Given the description of an element on the screen output the (x, y) to click on. 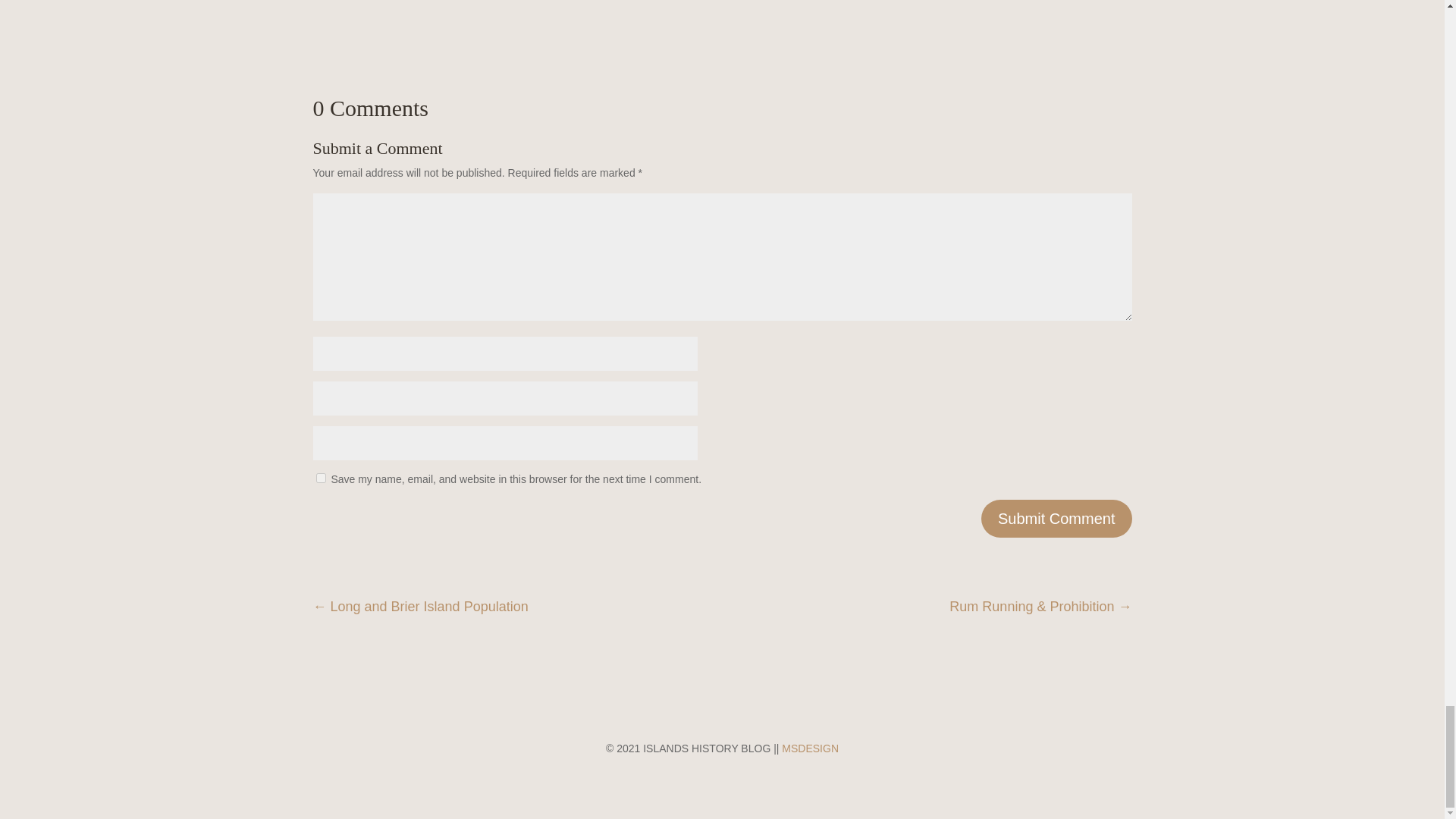
yes (319, 478)
Submit Comment (1056, 518)
MSDESIGN (809, 748)
Drone View Balancing Rock (722, 37)
